Given the description of an element on the screen output the (x, y) to click on. 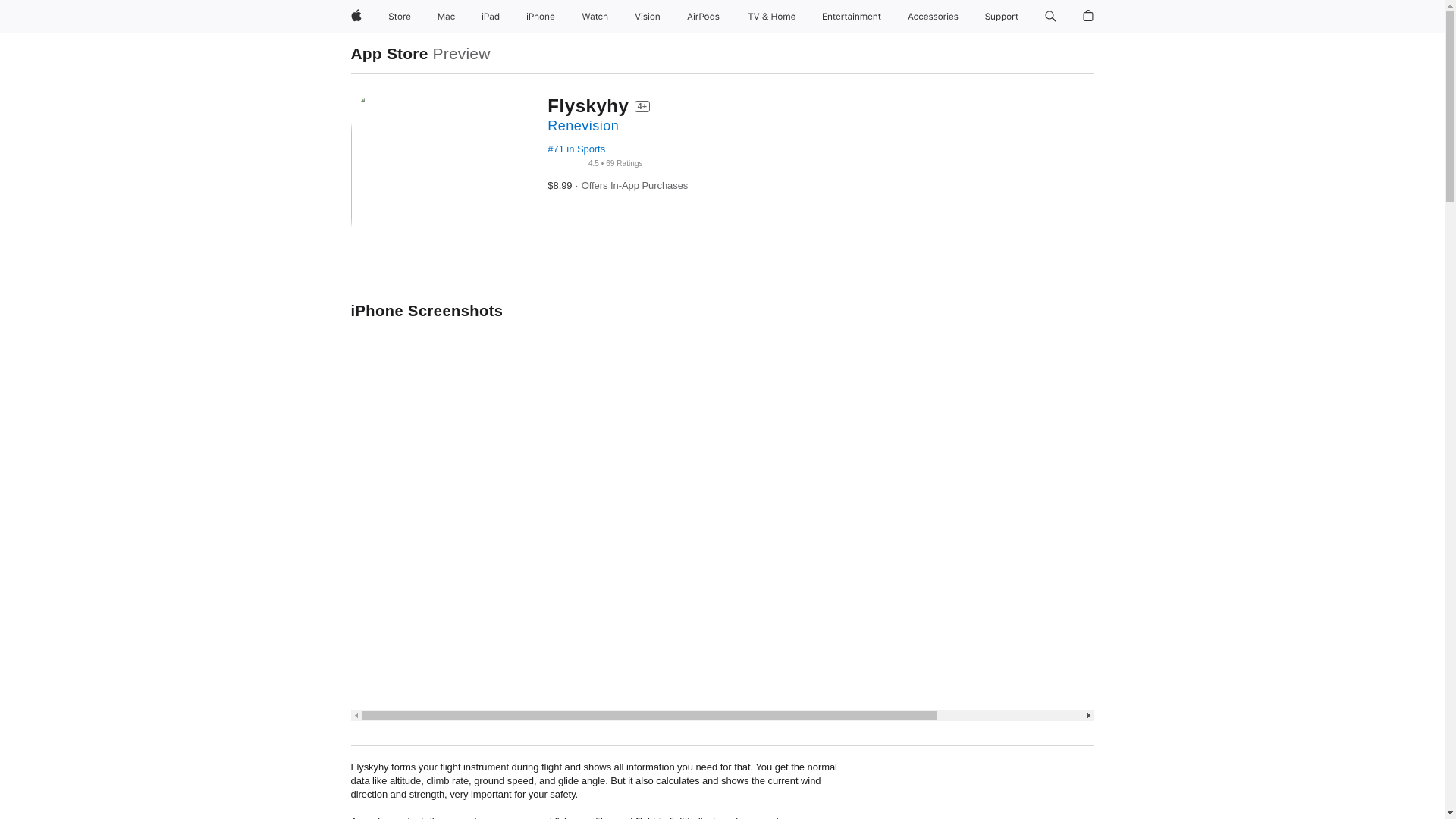
Vision (647, 16)
Entertainment (851, 16)
AirPods (703, 16)
Store (398, 16)
iPhone (539, 16)
App Store (389, 53)
Support (1001, 16)
iPad (490, 16)
Renevision (582, 125)
Accessories (932, 16)
